Given the description of an element on the screen output the (x, y) to click on. 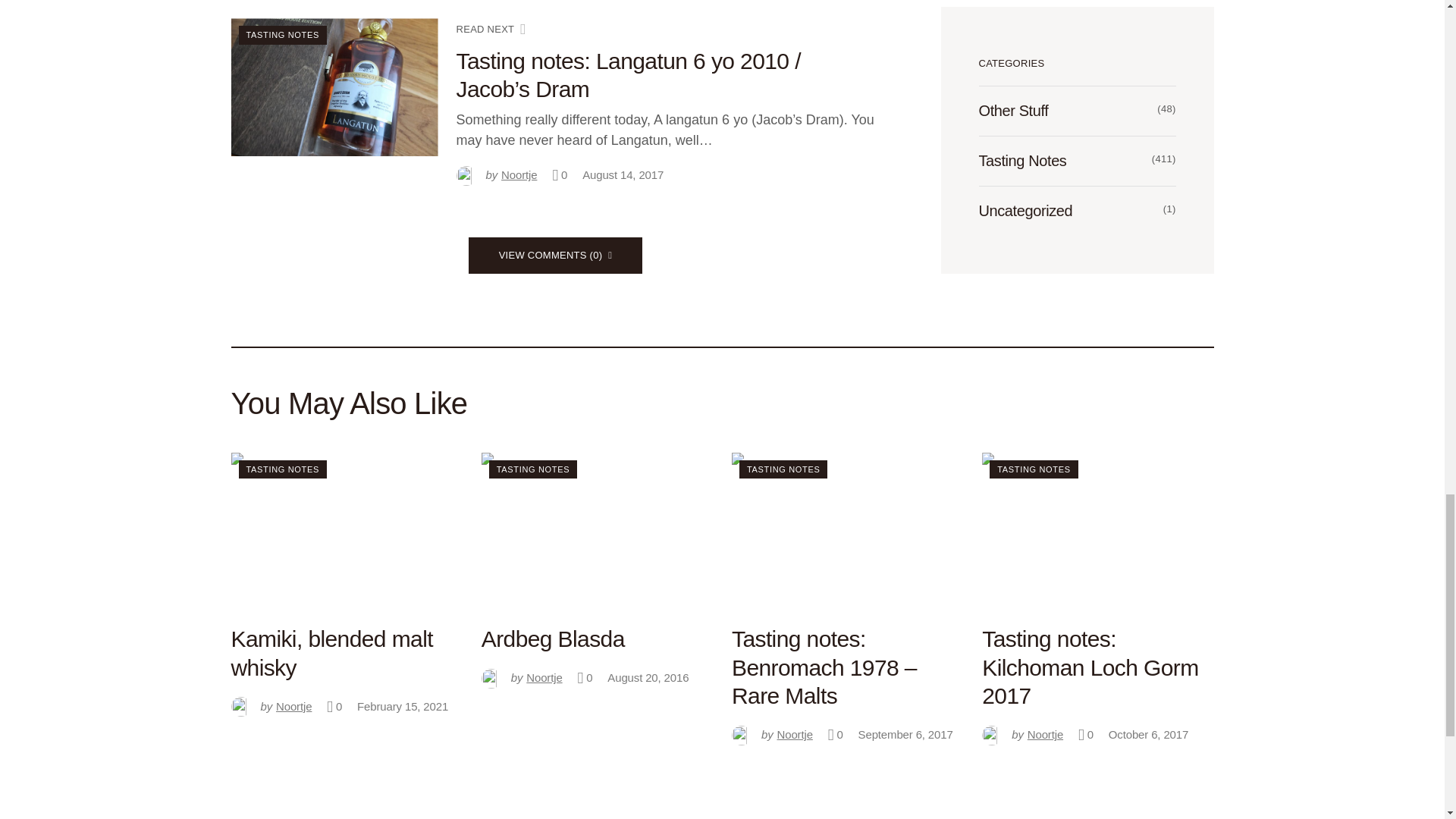
View all posts by Noortje (1021, 735)
View all posts by Noortje (521, 678)
View all posts by Noortje (270, 706)
View all posts by Noortje (772, 735)
TASTING NOTES (282, 35)
View all posts by Noortje (497, 175)
